Given the description of an element on the screen output the (x, y) to click on. 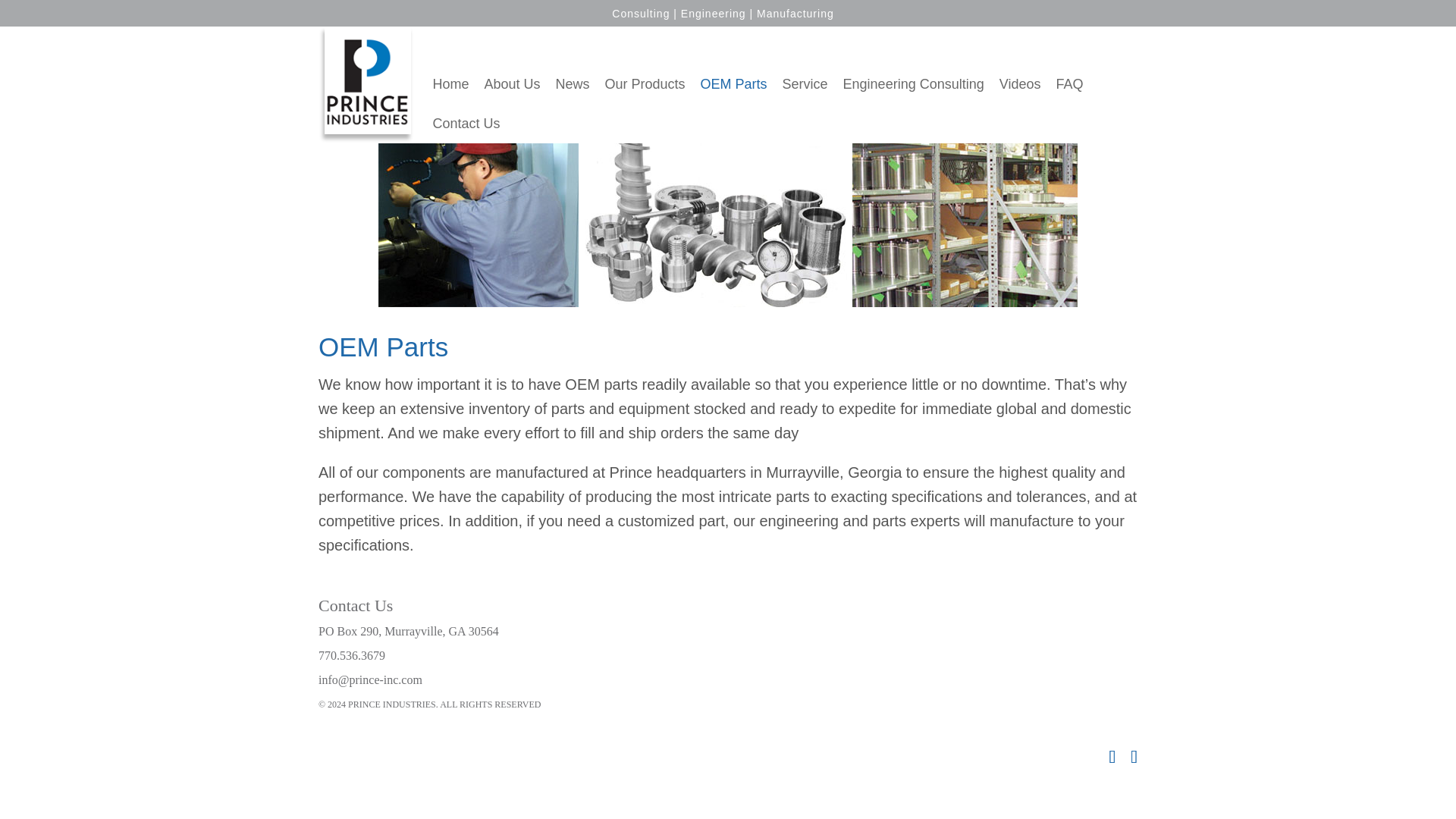
FAQ (1069, 84)
Our Products (644, 84)
Videos (1019, 84)
About Us (511, 84)
Contact Us (465, 123)
Home (450, 84)
OEM Parts (733, 84)
Service (804, 84)
News (571, 84)
Engineering Consulting (913, 84)
